Given the description of an element on the screen output the (x, y) to click on. 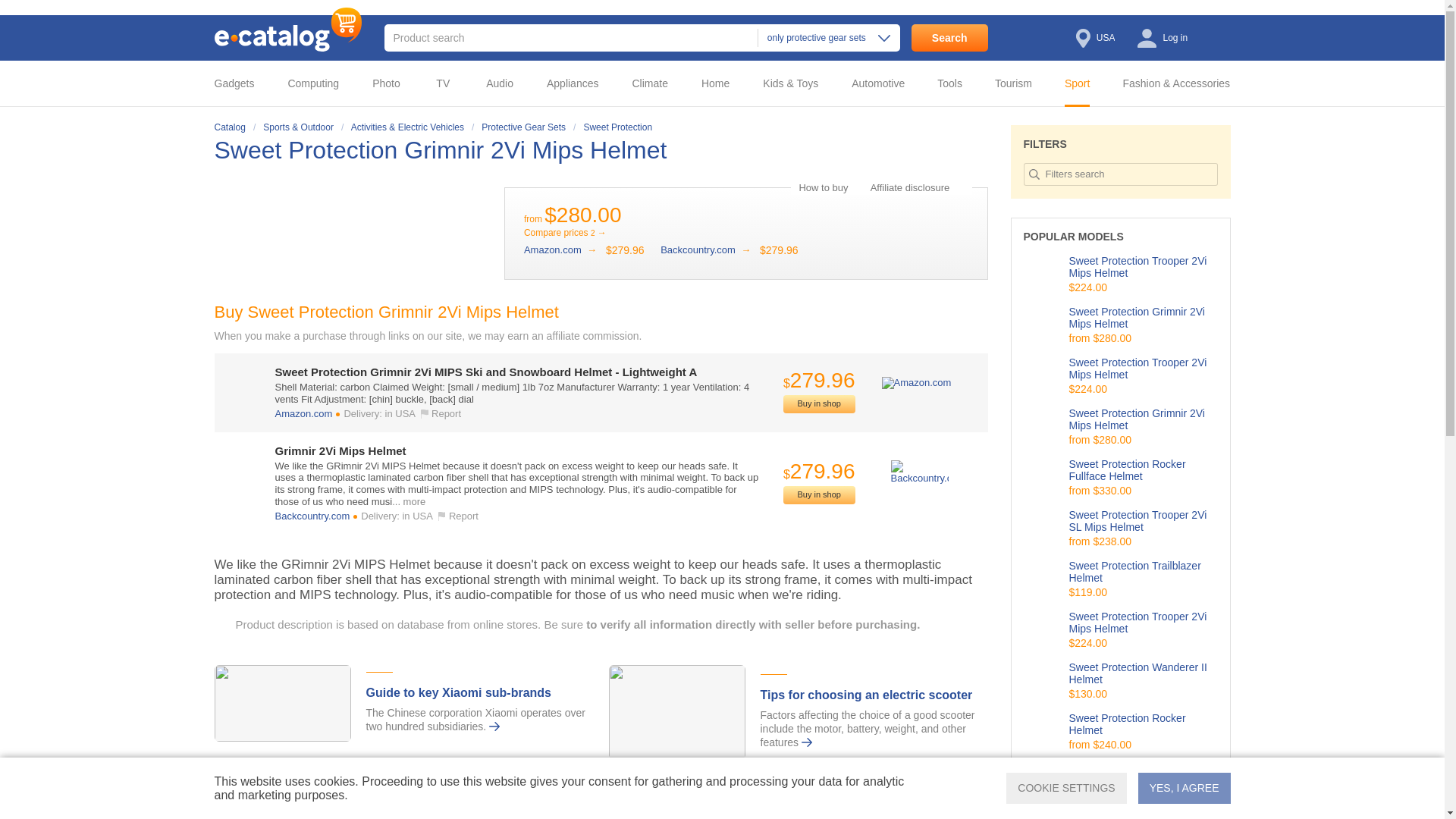
E-Catalog (287, 29)
Protective Gear Set Sweet Protection Grimnir 2Vi Mips Helmet (444, 149)
Gadgets (245, 83)
Search (949, 37)
Photo (391, 83)
 TV  (448, 83)
 Grimnir 2Vi Mips Helmet (706, 249)
Computing (318, 83)
Share Page (972, 150)
